Given the description of an element on the screen output the (x, y) to click on. 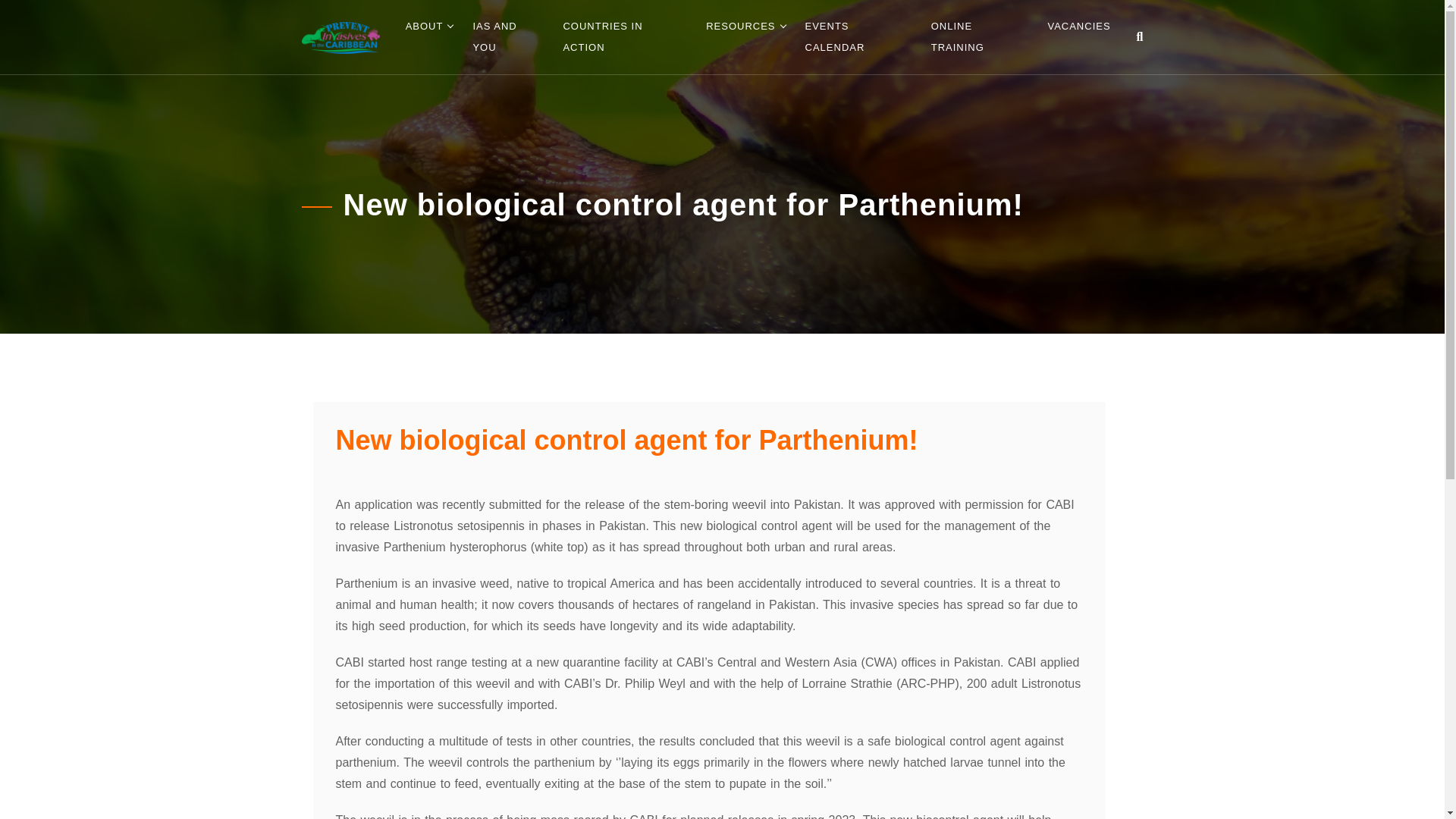
Resources (740, 26)
Events Calendar (858, 37)
IAS AND YOU (506, 37)
COUNTRIES IN ACTION (624, 37)
About (423, 26)
ONLINE TRAINING (978, 37)
IAS and You (506, 37)
ABOUT (423, 26)
VACANCIES (1078, 26)
Online Training (978, 37)
Vacancies (1078, 26)
RESOURCES (740, 26)
Countries in Action (624, 37)
EVENTS CALENDAR (858, 37)
